Given the description of an element on the screen output the (x, y) to click on. 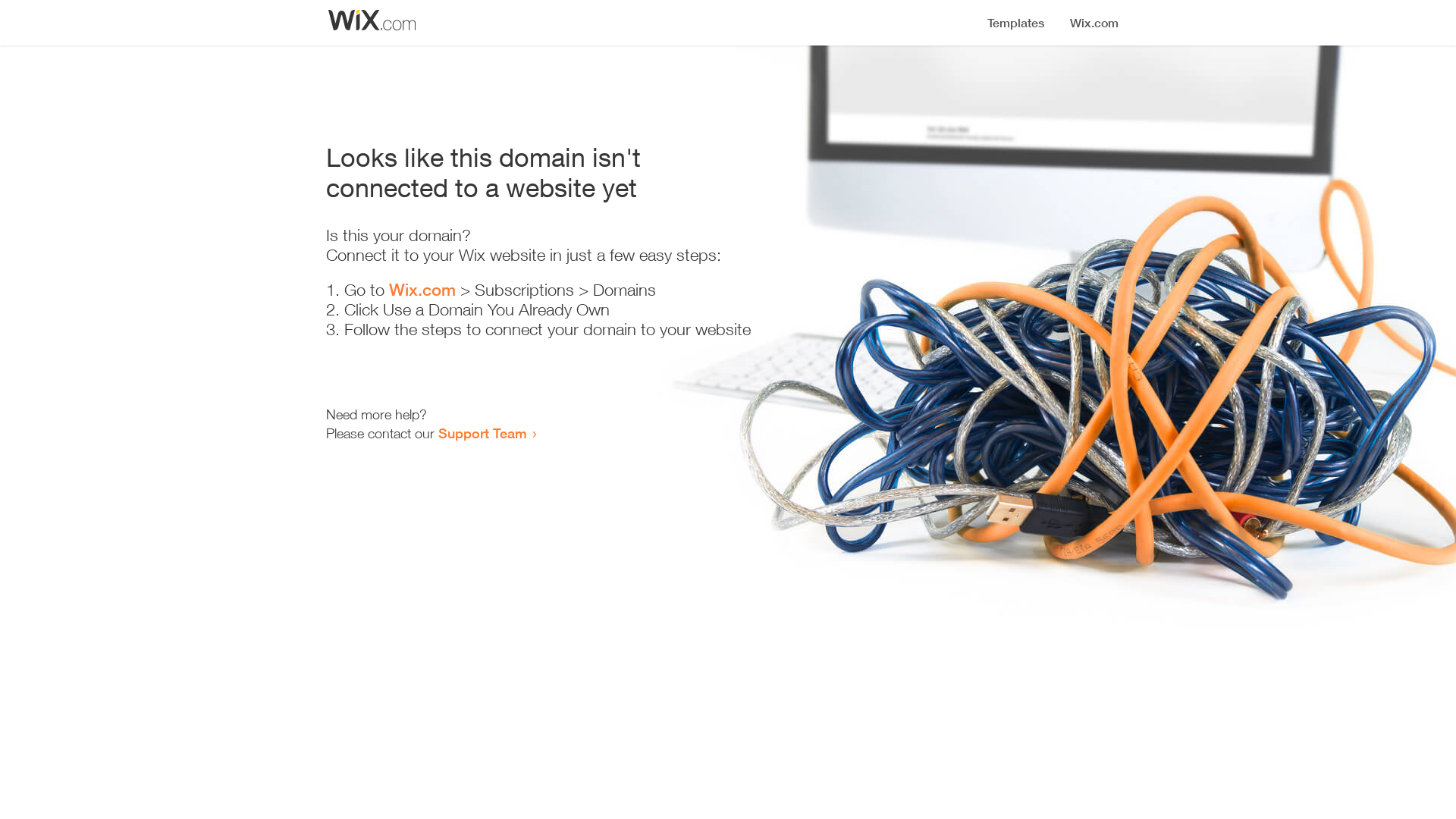
Wix.com Element type: text (422, 289)
Support Team Element type: text (482, 432)
